Given the description of an element on the screen output the (x, y) to click on. 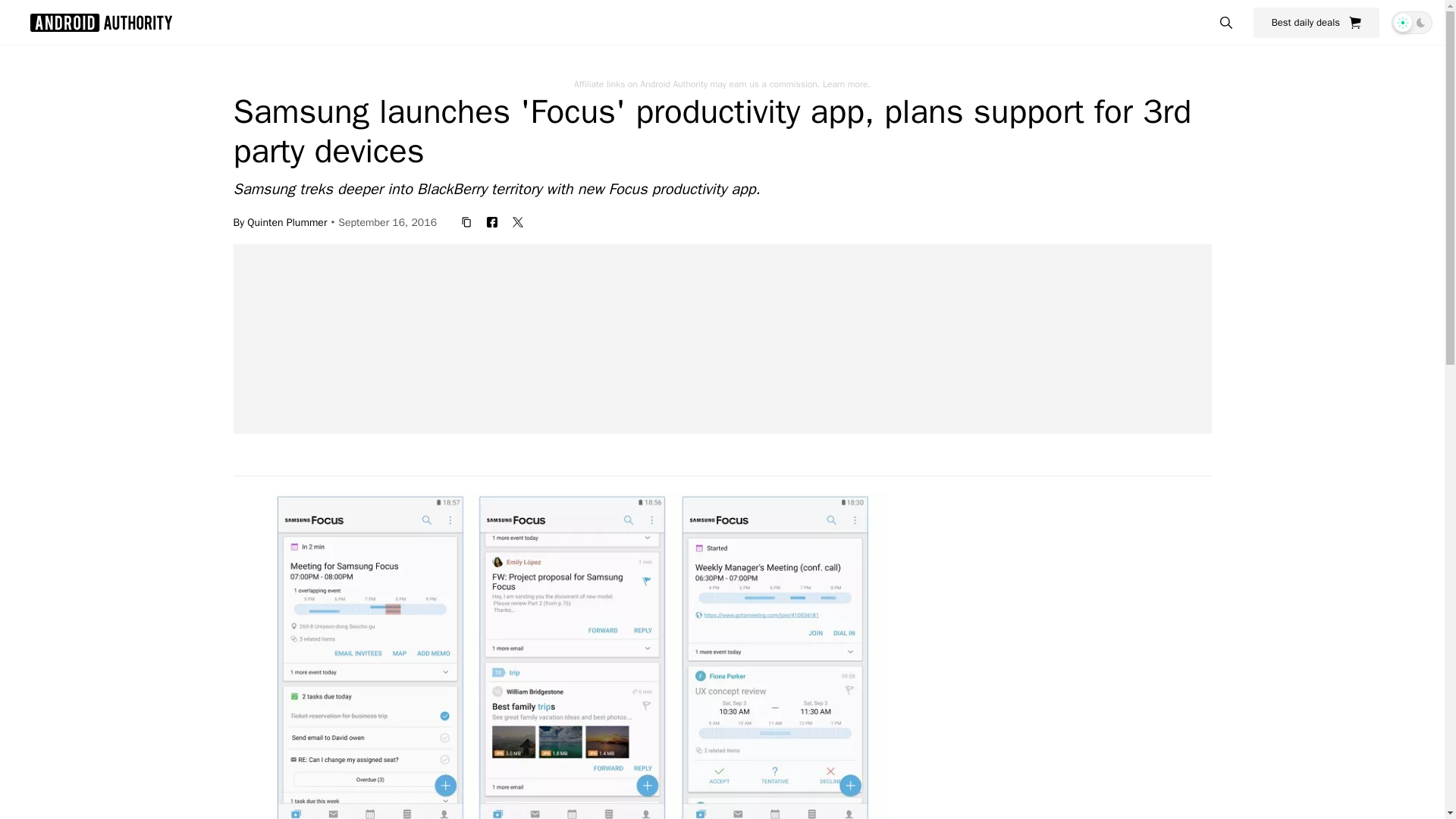
Best daily deals (1315, 22)
twitter (518, 222)
Quinten Plummer (286, 221)
Learn more. (846, 83)
facebook (492, 222)
